Given the description of an element on the screen output the (x, y) to click on. 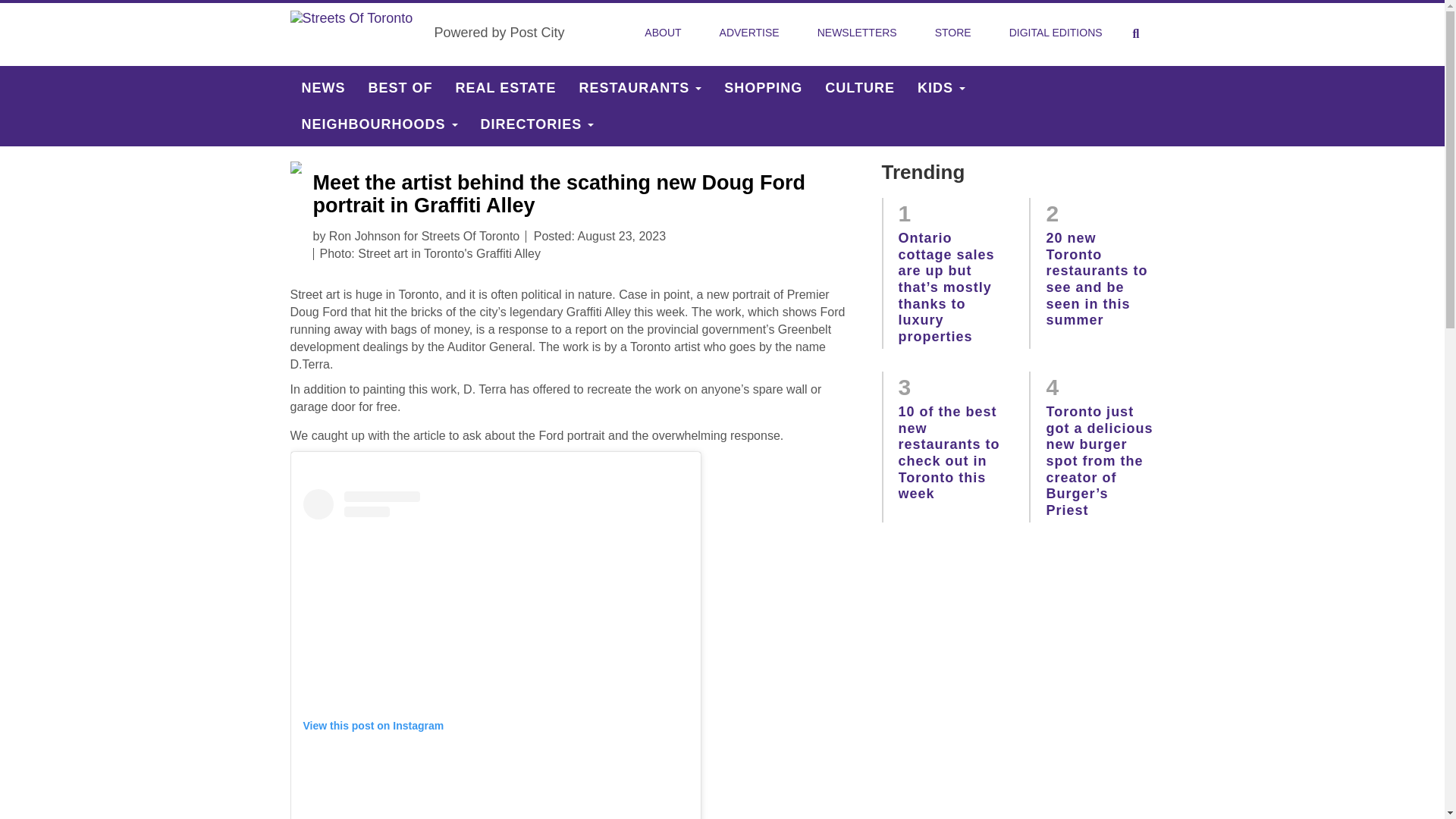
Streets Of Toronto (355, 33)
DIGITAL EDITIONS (1056, 32)
RESTAURANTS (640, 87)
ABOUT (661, 32)
SHOPPING (763, 87)
NEWS (322, 87)
BEST OF (400, 87)
STORE (953, 32)
CULTURE (859, 87)
ADVERTISE (749, 32)
